Given the description of an element on the screen output the (x, y) to click on. 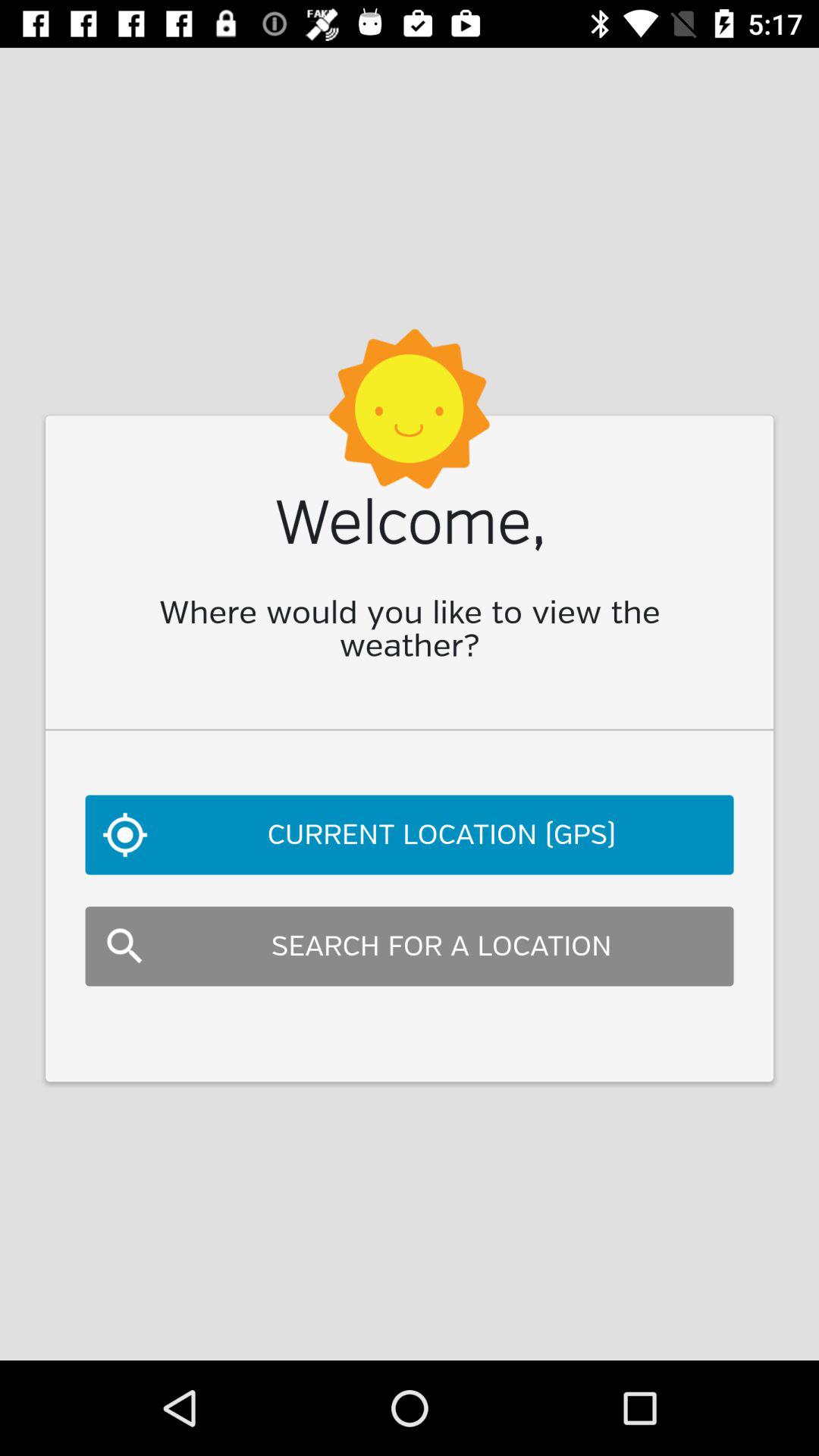
jump until search for a (409, 946)
